Given the description of an element on the screen output the (x, y) to click on. 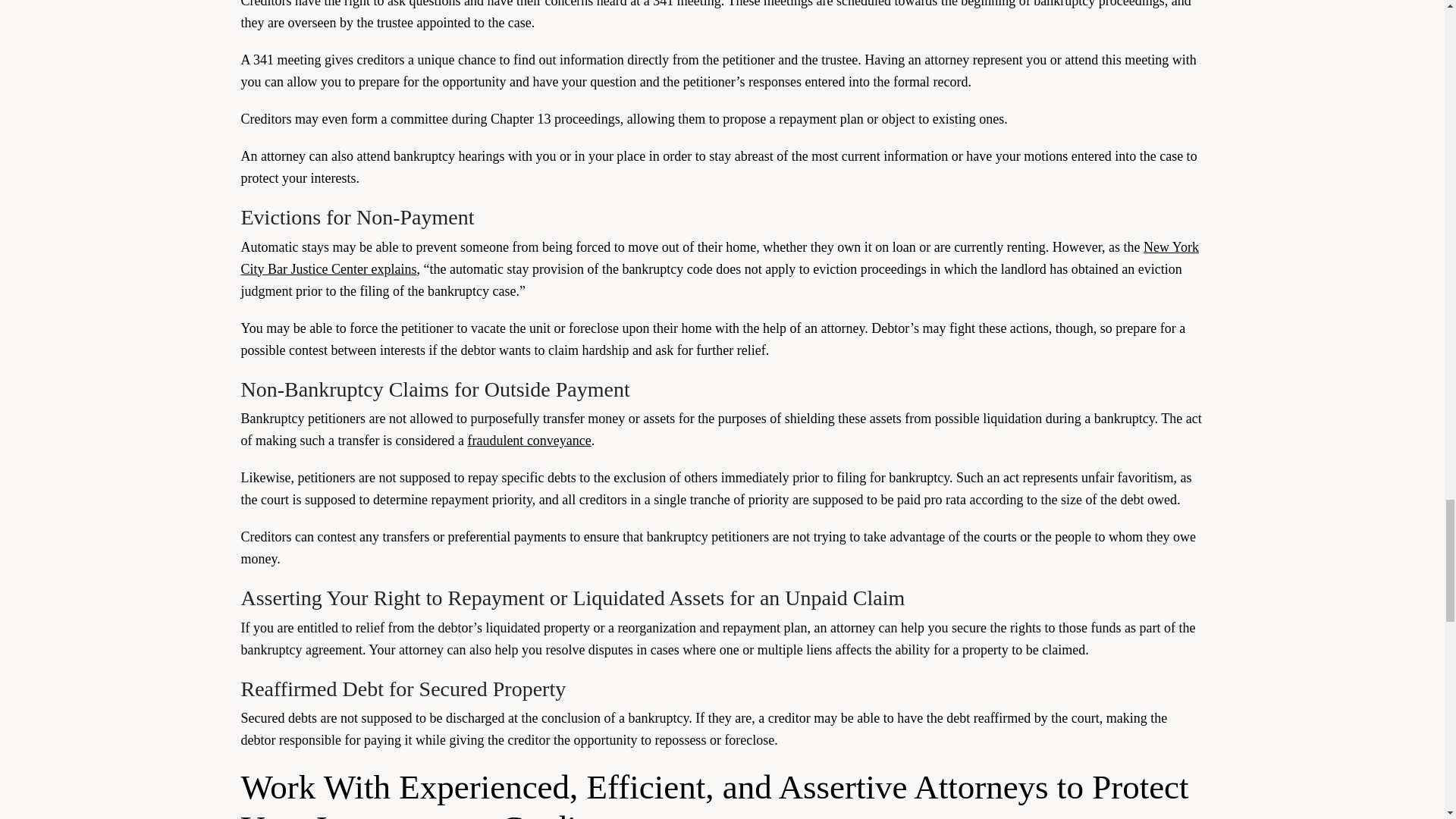
New York City Bar Justice Center explains (719, 257)
fraudulent conveyance (529, 440)
